Given the description of an element on the screen output the (x, y) to click on. 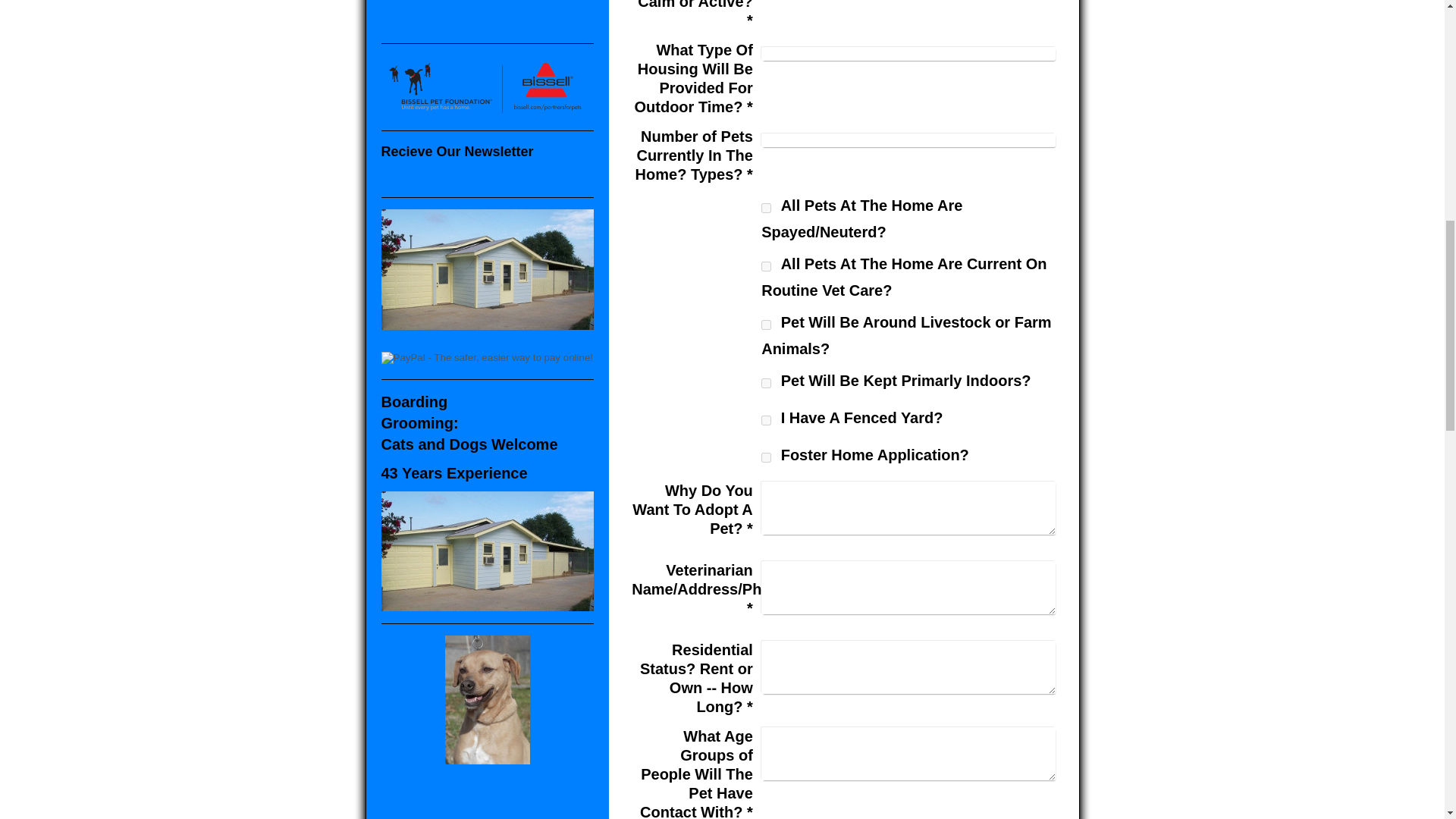
on (766, 457)
on (766, 420)
on (766, 325)
on (766, 383)
on (766, 207)
on (766, 266)
